Given the description of an element on the screen output the (x, y) to click on. 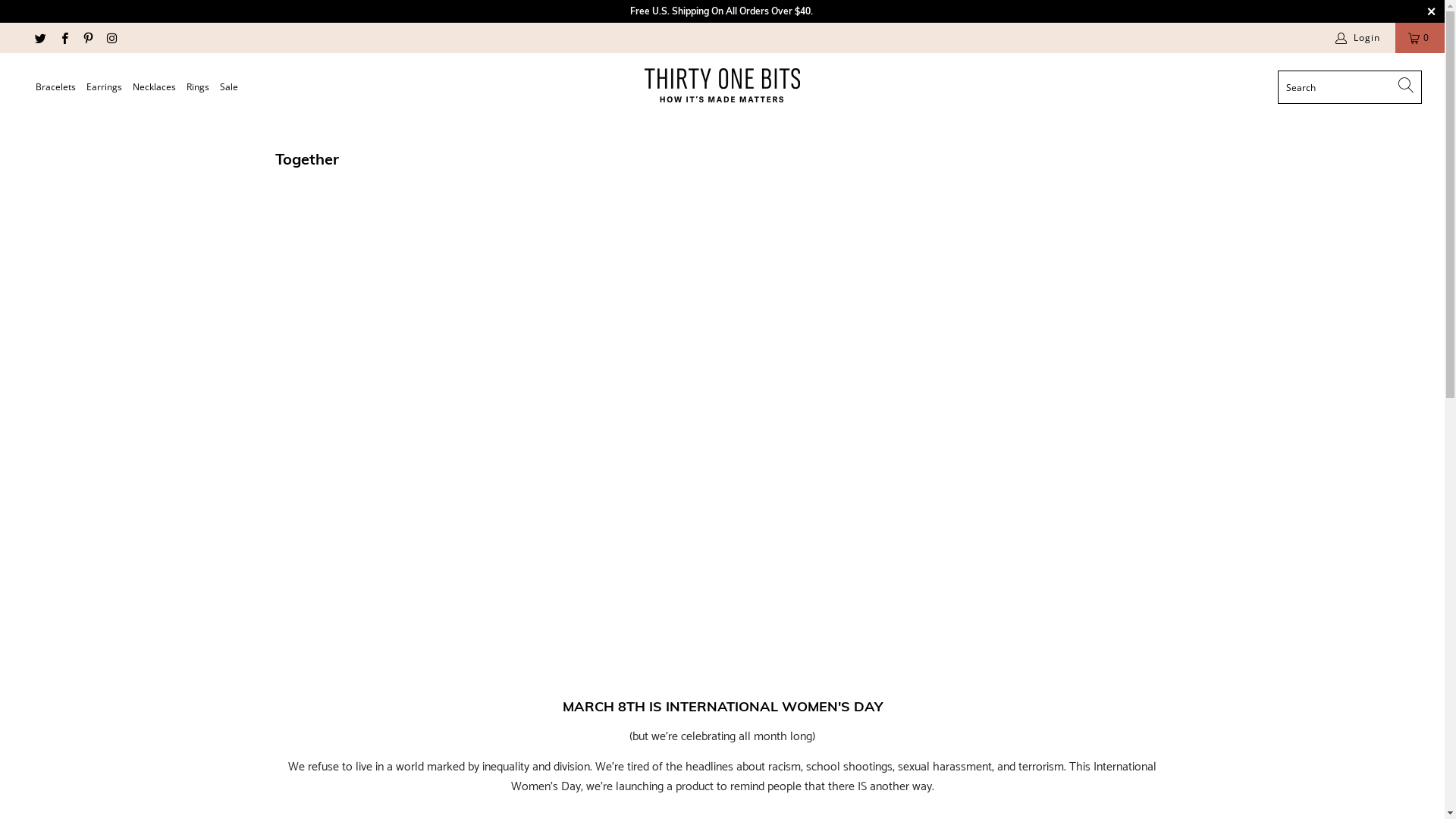
0 Element type: text (1419, 37)
31 Bits on Twitter Element type: hover (39, 37)
31 Bits on Facebook Element type: hover (62, 37)
Rings Element type: text (197, 87)
Sale Element type: text (228, 87)
Earrings Element type: text (104, 87)
Bracelets Element type: text (55, 87)
31 Bits on Pinterest Element type: hover (86, 37)
Necklaces Element type: text (153, 87)
Login Element type: text (1358, 37)
31 Bits on Instagram Element type: hover (110, 37)
31 Bits Element type: hover (721, 85)
